Given the description of an element on the screen output the (x, y) to click on. 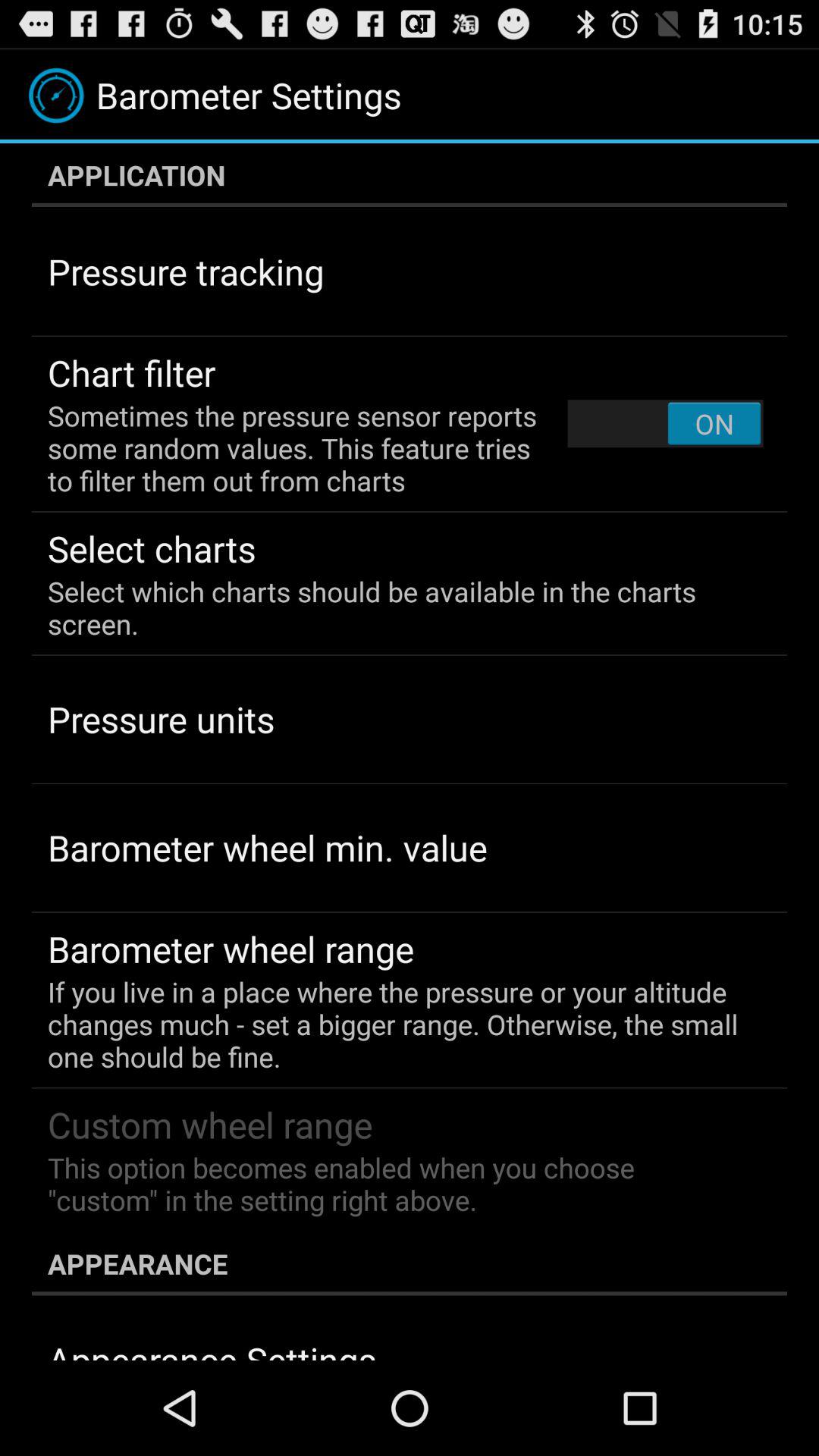
click the item above appearance (399, 1183)
